Given the description of an element on the screen output the (x, y) to click on. 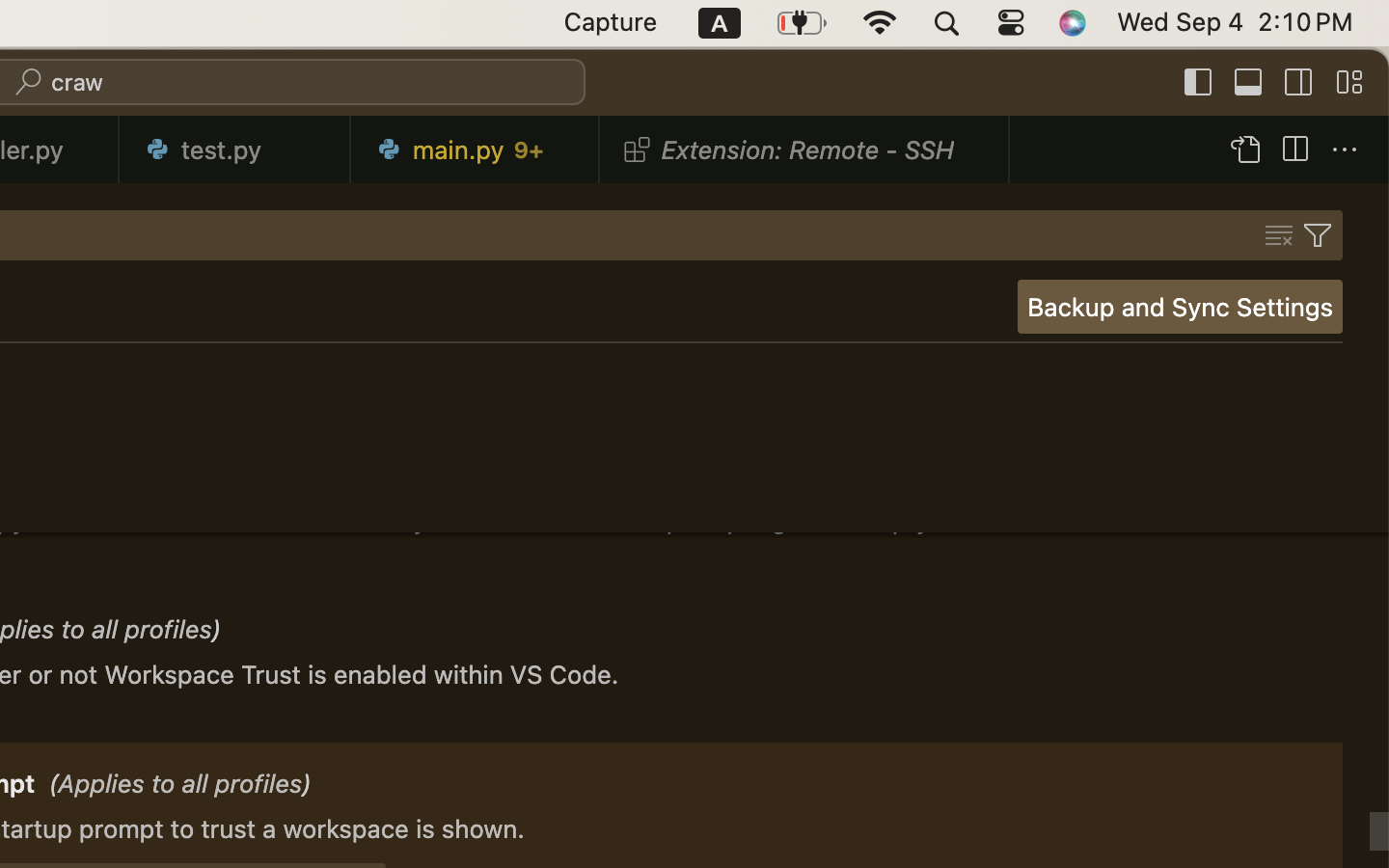
craw Element type: AXStaticText (78, 82)
 Element type: AXButton (1349, 82)
 Element type: AXStaticText (1344, 150)
 Element type: AXCheckBox (1248, 82)
